Given the description of an element on the screen output the (x, y) to click on. 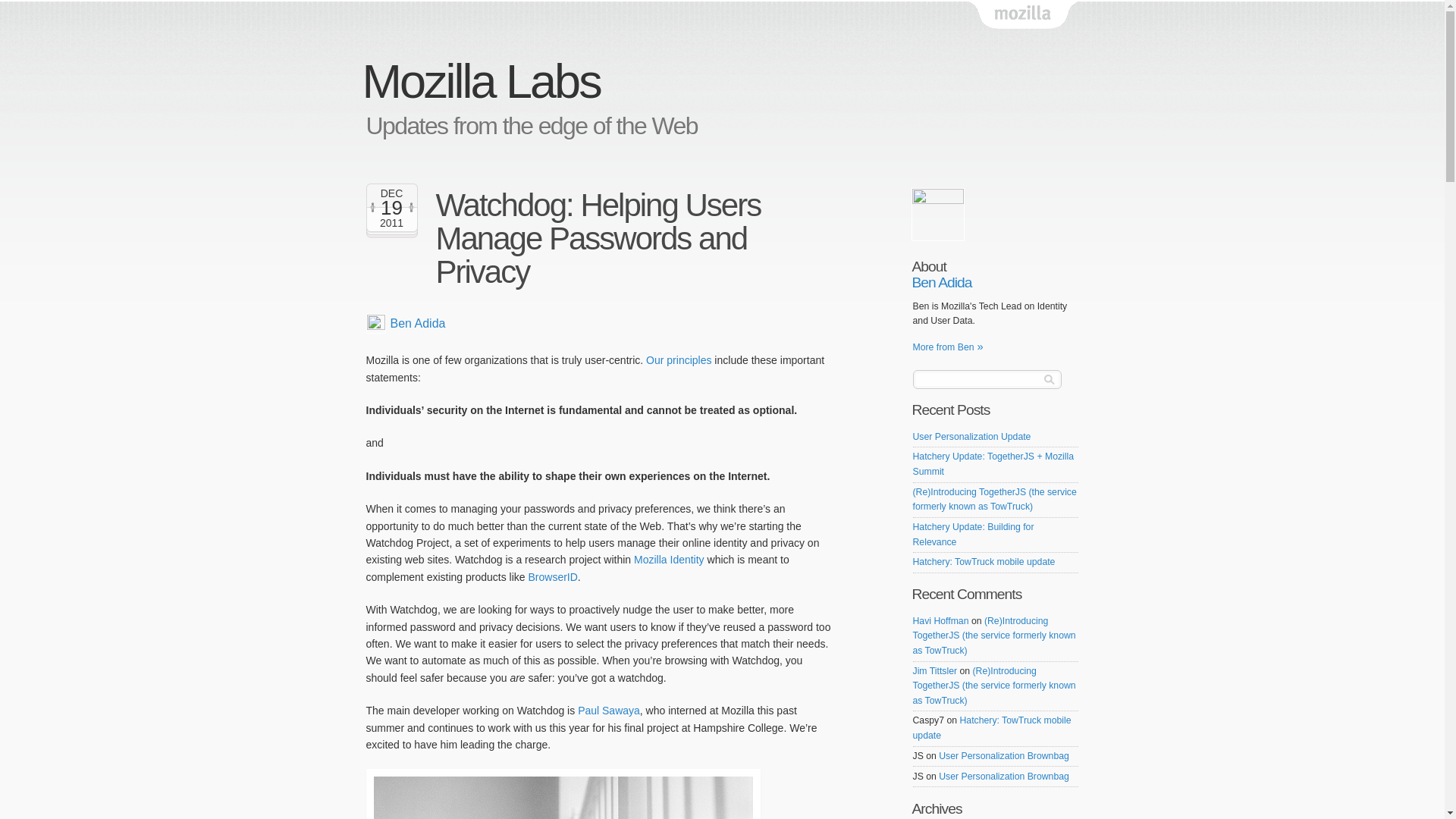
User Personalization Brownbag (1003, 776)
Mozilla Labs (480, 80)
Mozilla Identity (668, 559)
2011 (390, 222)
See all posts from December, 2011 (390, 193)
Mozilla (1023, 15)
Hatchery Update: Building for Relevance (972, 534)
Hatchery: TowTruck mobile update (991, 727)
Jim Tittsler (935, 670)
Our principles (678, 359)
See all posts by Ben Adida (417, 323)
Ben Adida (994, 282)
User Personalization Update (971, 436)
Havi Hoffman (940, 620)
Ben Adida (417, 323)
